Given the description of an element on the screen output the (x, y) to click on. 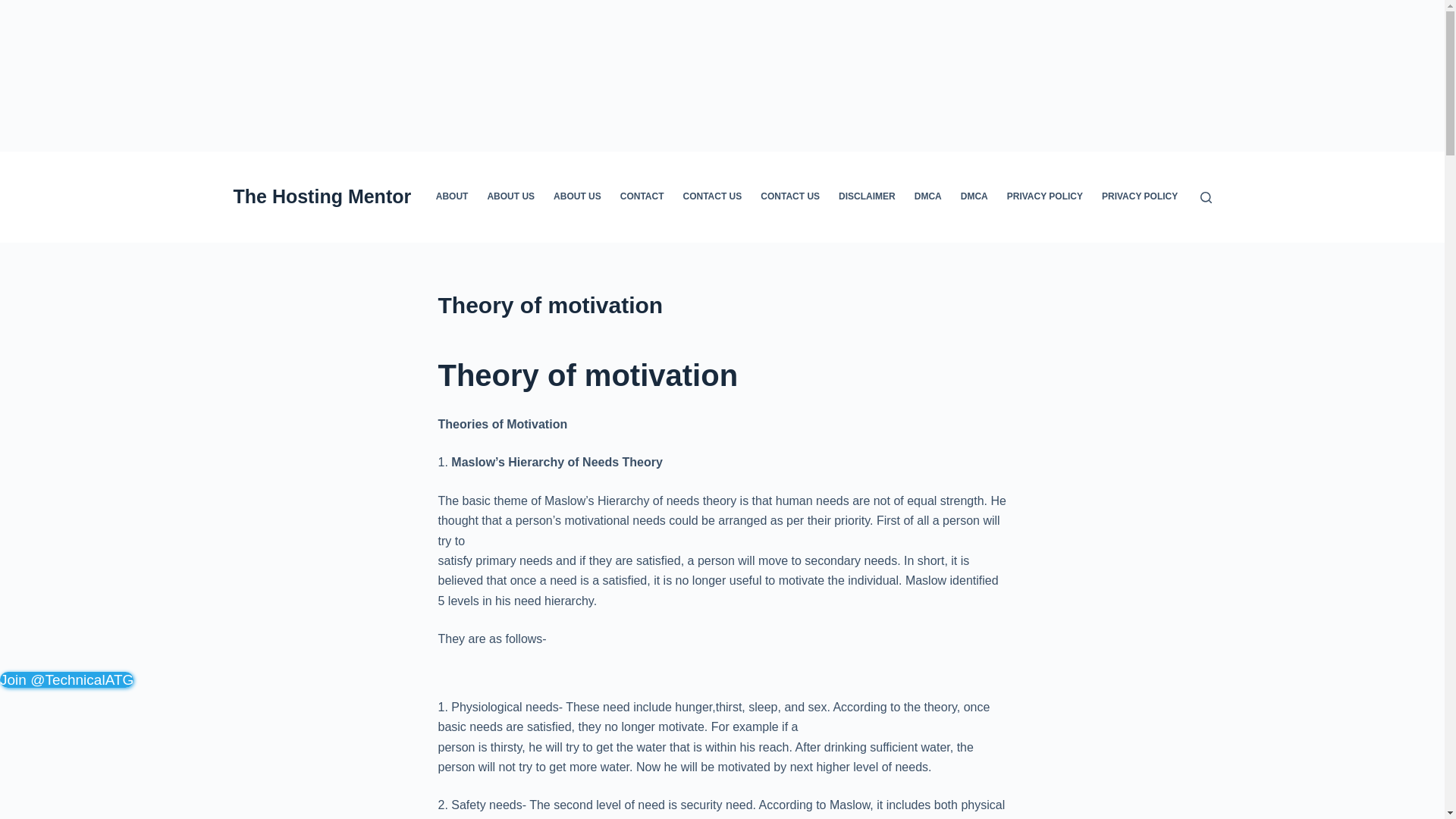
PRIVACY POLICY (1044, 196)
PRIVACY POLICY (1139, 196)
Theory of motivation (722, 305)
Skip to content (15, 7)
Technical ATG Mods (66, 679)
The Hosting Mentor (322, 196)
